Given the description of an element on the screen output the (x, y) to click on. 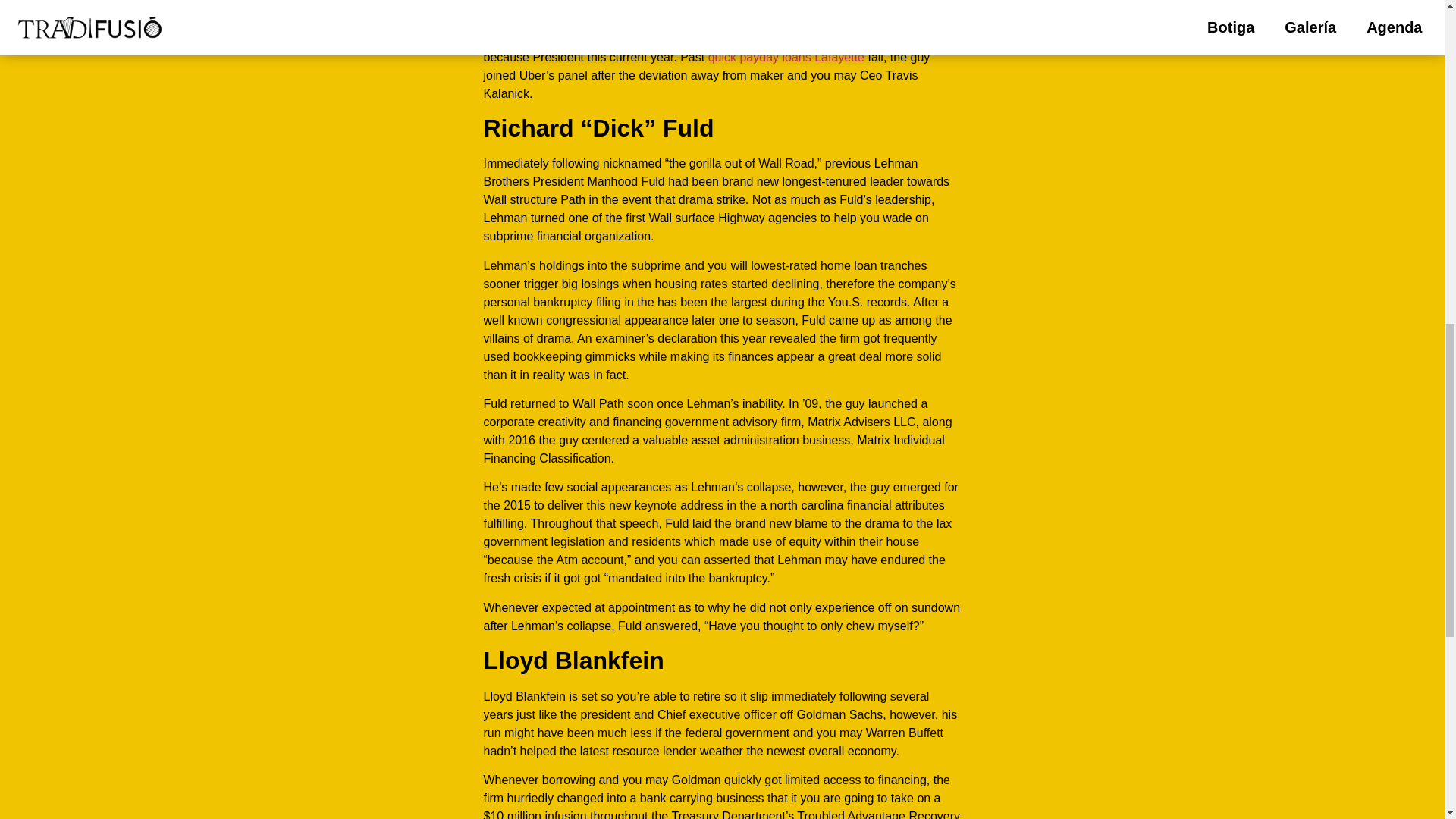
quick payday loans Lafayette (785, 56)
